Given the description of an element on the screen output the (x, y) to click on. 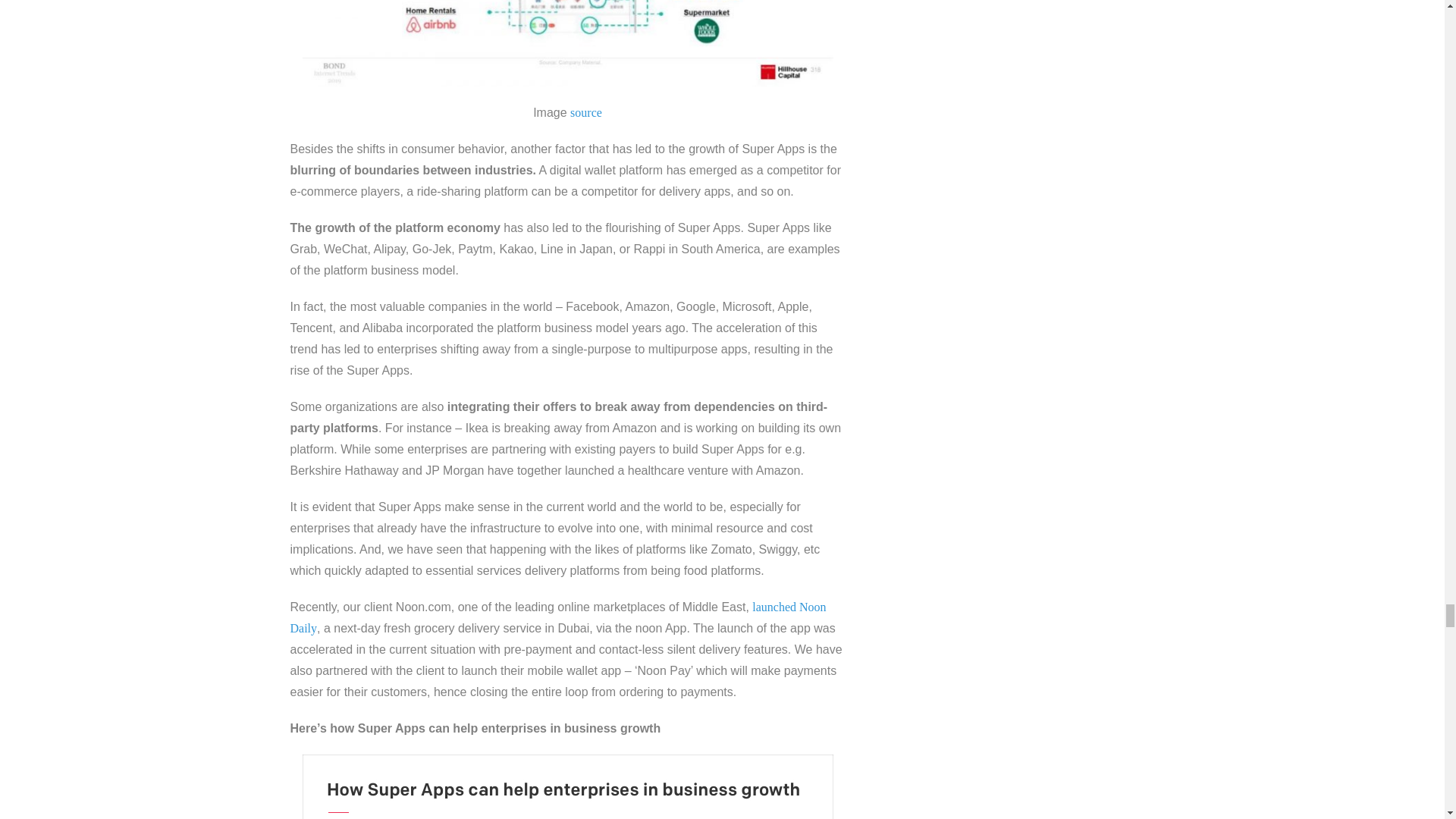
Mary Meeker Internet Trends Report (566, 43)
